Given the description of an element on the screen output the (x, y) to click on. 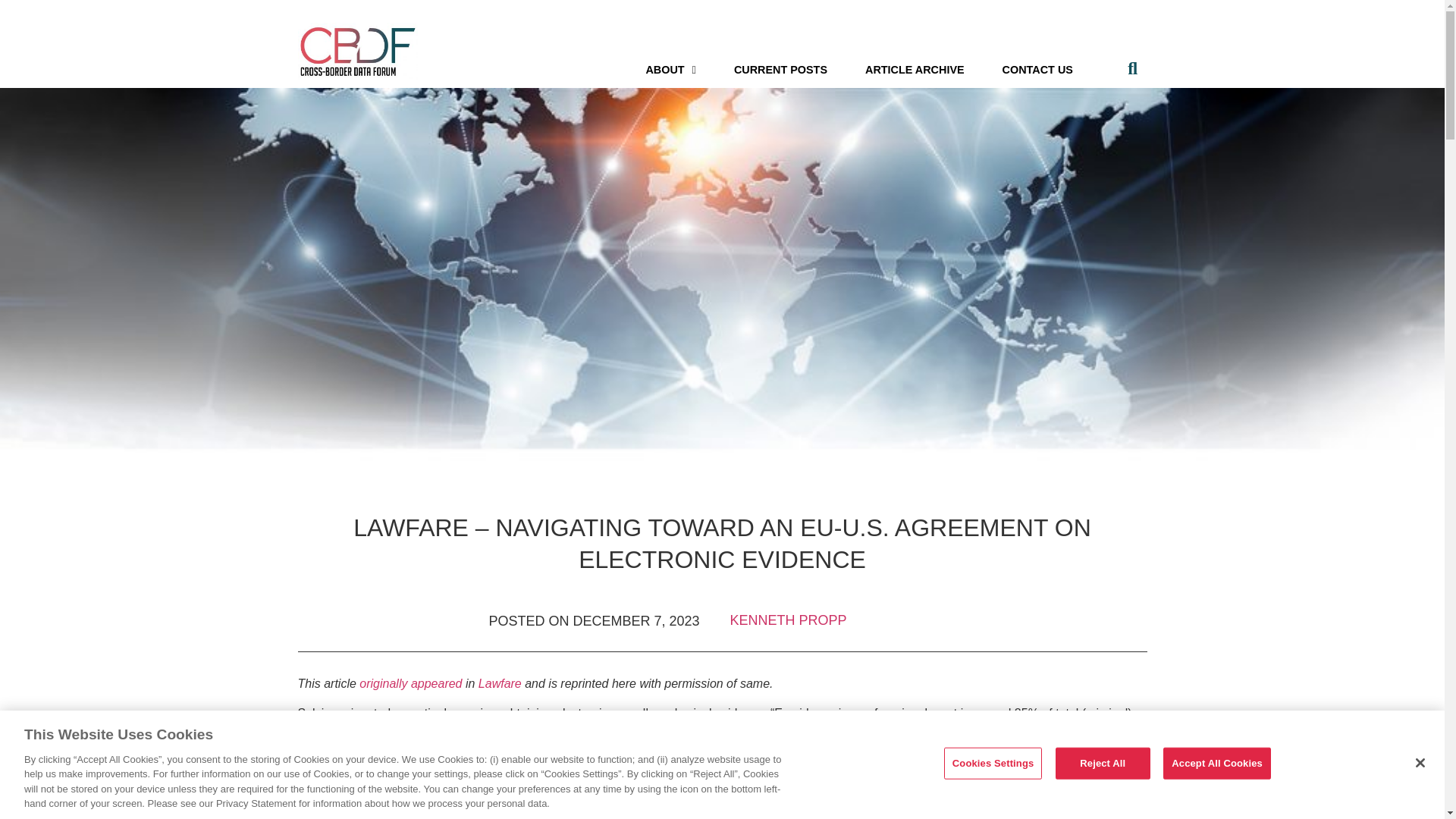
study (532, 730)
ABOUT (670, 69)
Act (585, 813)
CLOUD (552, 813)
CURRENT POSTS (780, 69)
CONTACT US (1038, 69)
ARTICLE ARCHIVE (913, 69)
Commission (481, 730)
KENNETH PROPP (787, 620)
European (417, 730)
originally appeared (410, 683)
Kenneth Propp (787, 620)
Lawfare (500, 683)
